Given the description of an element on the screen output the (x, y) to click on. 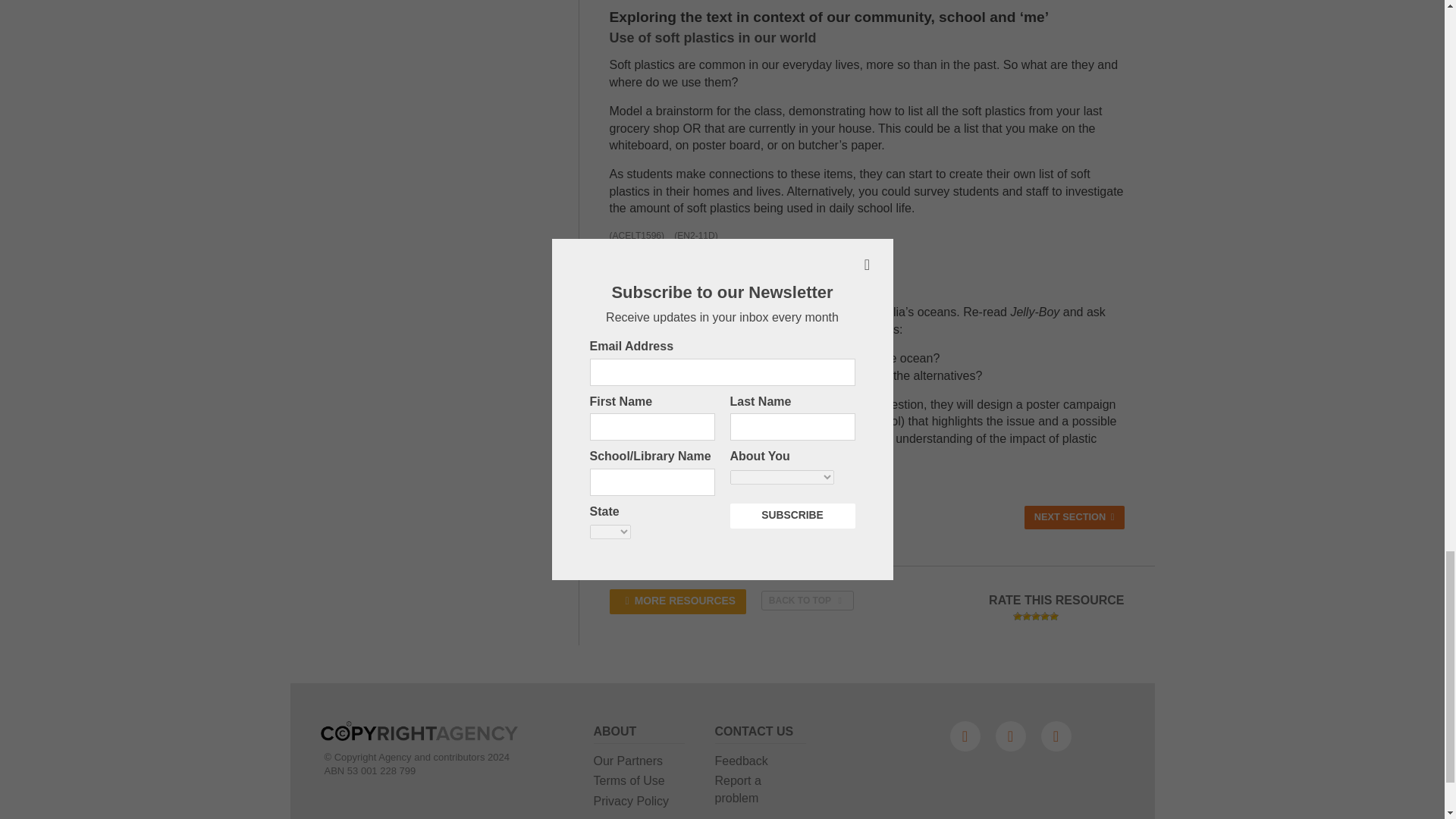
1 Star (1017, 615)
5 Stars (1053, 615)
3 Stars (1035, 615)
2 Stars (1026, 615)
4 Stars (1045, 615)
